Given the description of an element on the screen output the (x, y) to click on. 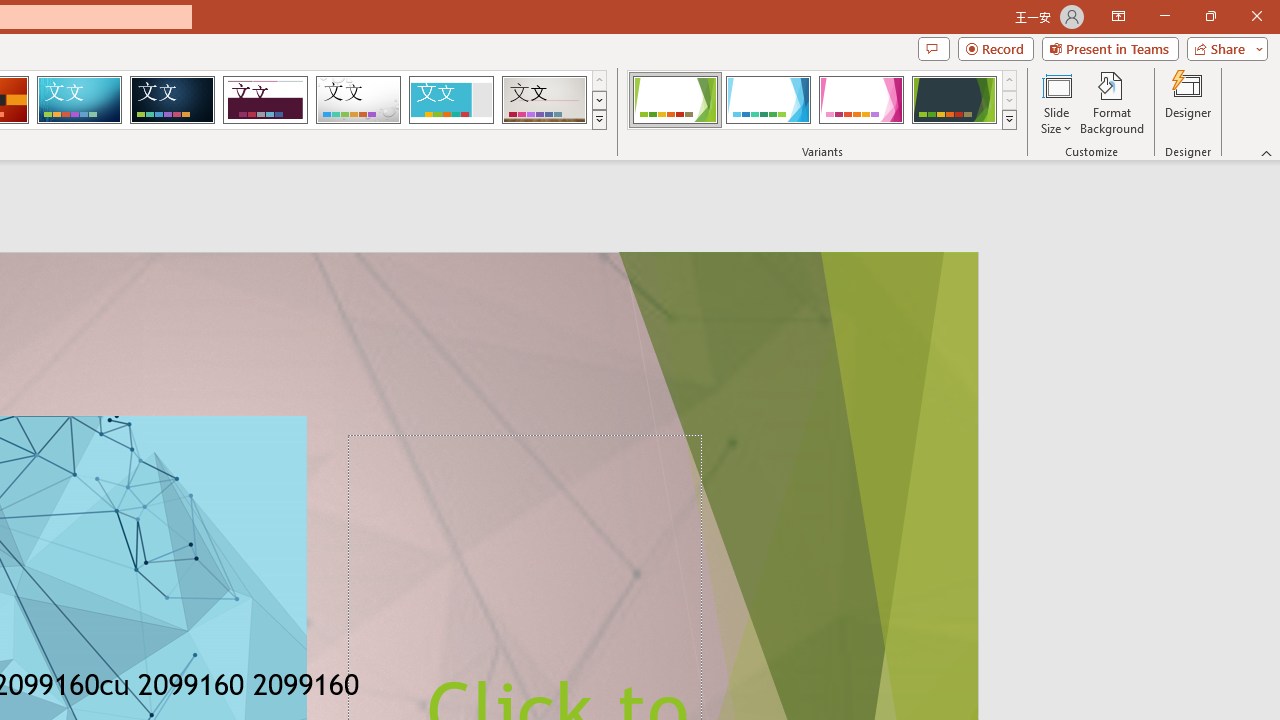
Themes (598, 120)
Dividend Loading Preview... (265, 100)
Format Background (1111, 102)
Variants (1009, 120)
Gallery Loading Preview... (544, 100)
Frame Loading Preview... (450, 100)
Facet Variant 2 (768, 100)
